Given the description of an element on the screen output the (x, y) to click on. 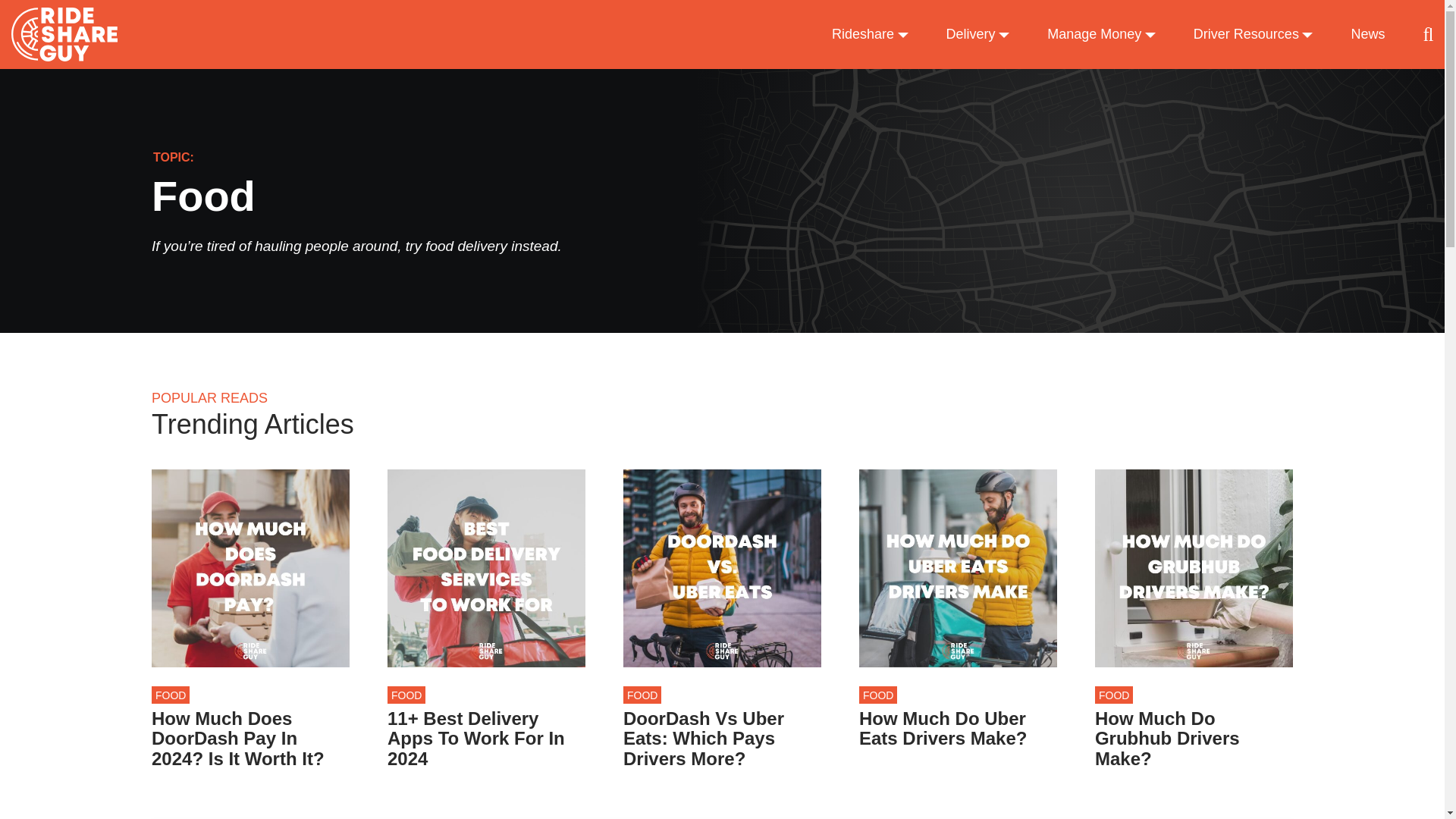
Manage Money (1101, 35)
DoorDash Vs Uber Eats: Which Pays Drivers More? (722, 739)
FOOD (642, 694)
Rideshare (869, 35)
FOOD (406, 694)
How Much Do Uber Eats Drivers Make? (958, 729)
Delivery (978, 35)
FOOD (877, 694)
News (1367, 35)
Driver Resources (1253, 35)
How Much Does DoorDash Pay In 2024? Is It Worth It? (250, 739)
FOOD (170, 694)
